Given the description of an element on the screen output the (x, y) to click on. 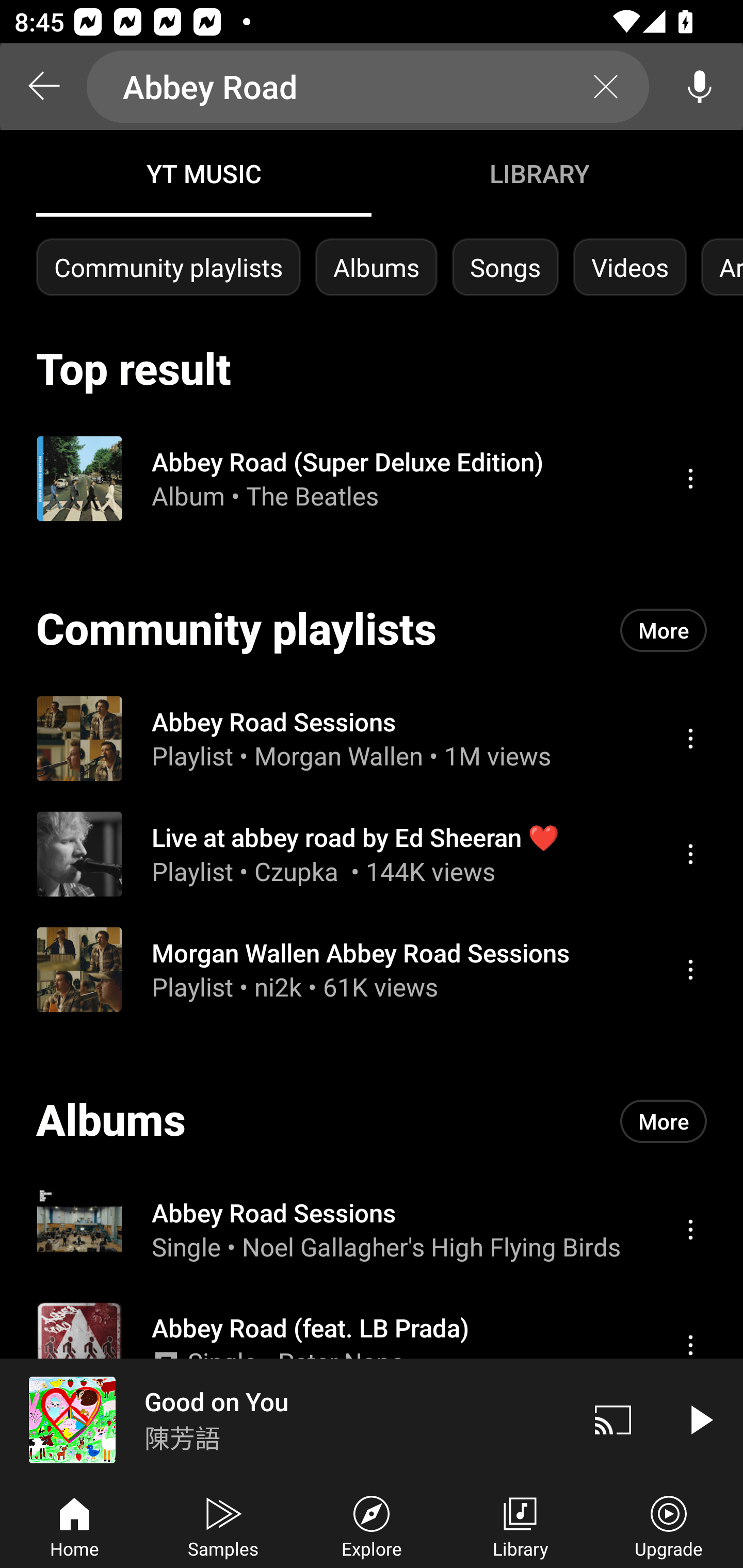
Search back (43, 86)
Abbey Road (367, 86)
Clear search (605, 86)
Voice search (699, 86)
Library LIBRARY (538, 173)
Menu (690, 478)
Community playlists More More (371, 630)
More (663, 630)
Menu (690, 738)
Menu (690, 854)
Menu (690, 968)
Albums More More (371, 1120)
More (663, 1121)
Menu (690, 1229)
Menu (690, 1345)
Good on You 陳芳語 (284, 1419)
Cast. Disconnected (612, 1419)
Play video (699, 1419)
Home (74, 1524)
Samples (222, 1524)
Explore (371, 1524)
Library (519, 1524)
Upgrade (668, 1524)
